Given the description of an element on the screen output the (x, y) to click on. 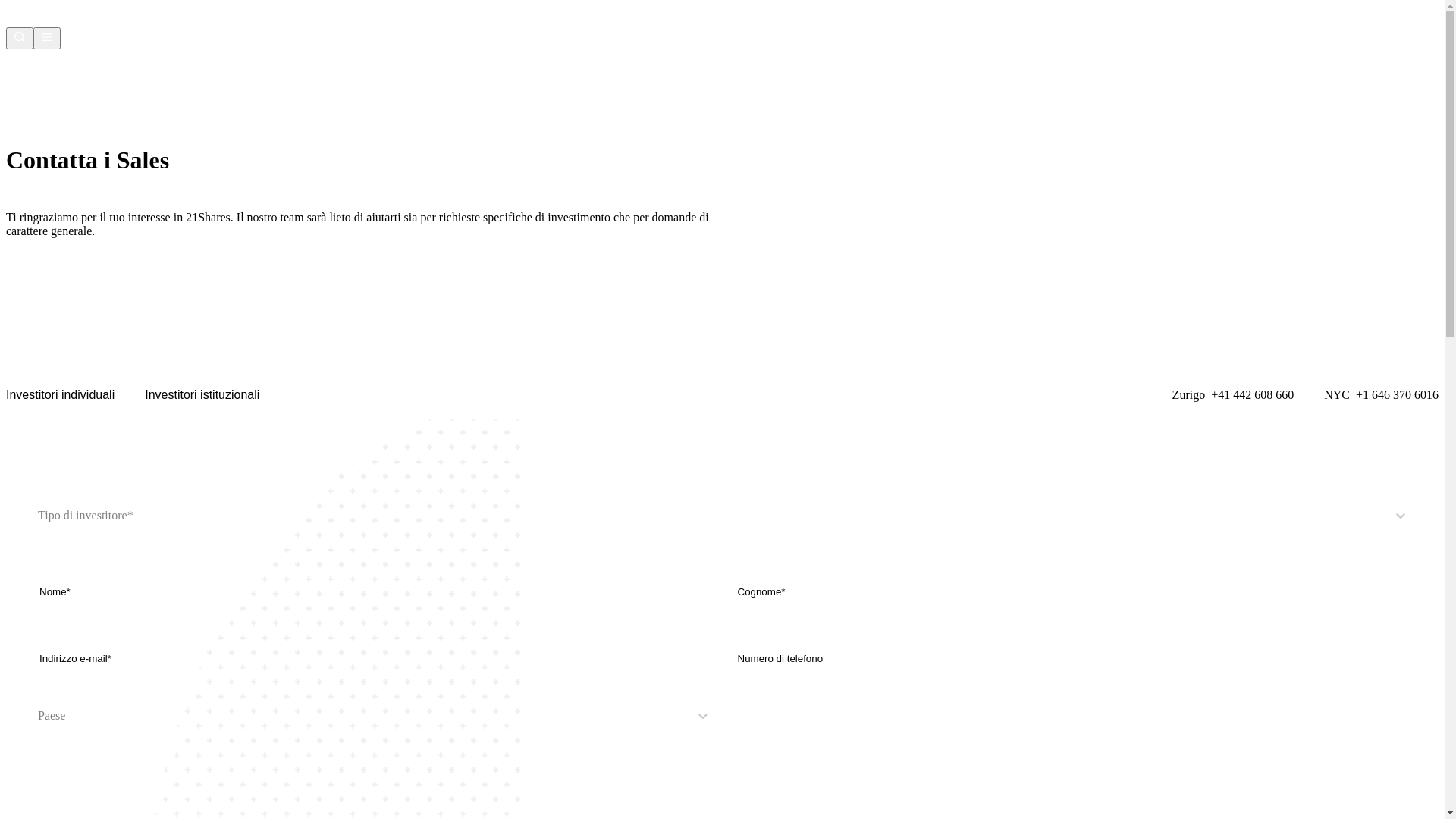
Investitori istituzionali Element type: text (201, 394)
Investitori individuali Element type: text (60, 394)
